Given the description of an element on the screen output the (x, y) to click on. 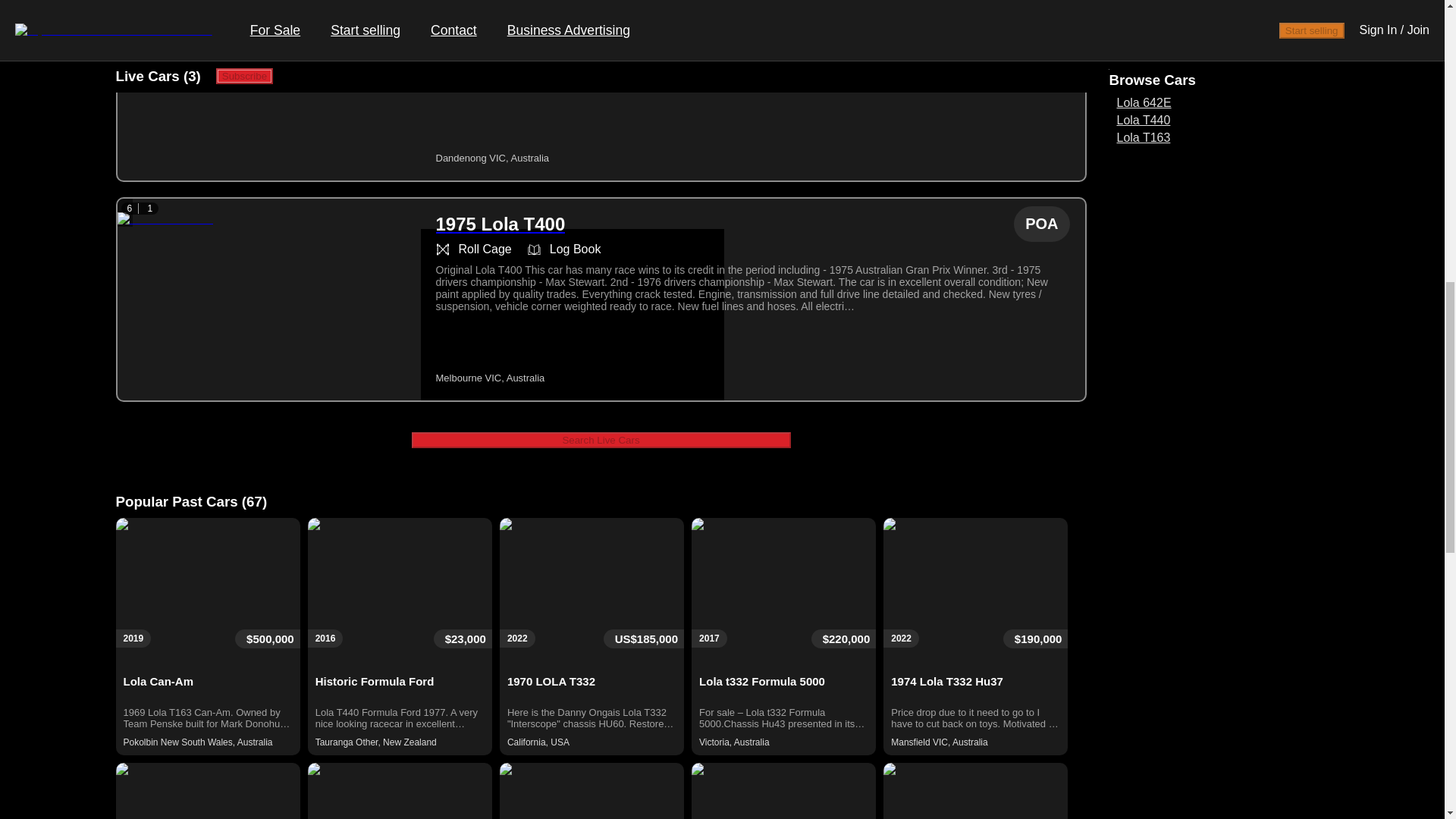
1982 LOLA T640 (505, 7)
Search Live Cars (600, 439)
1975 Lola T400 (499, 224)
Lola (1119, 63)
